Given the description of an element on the screen output the (x, y) to click on. 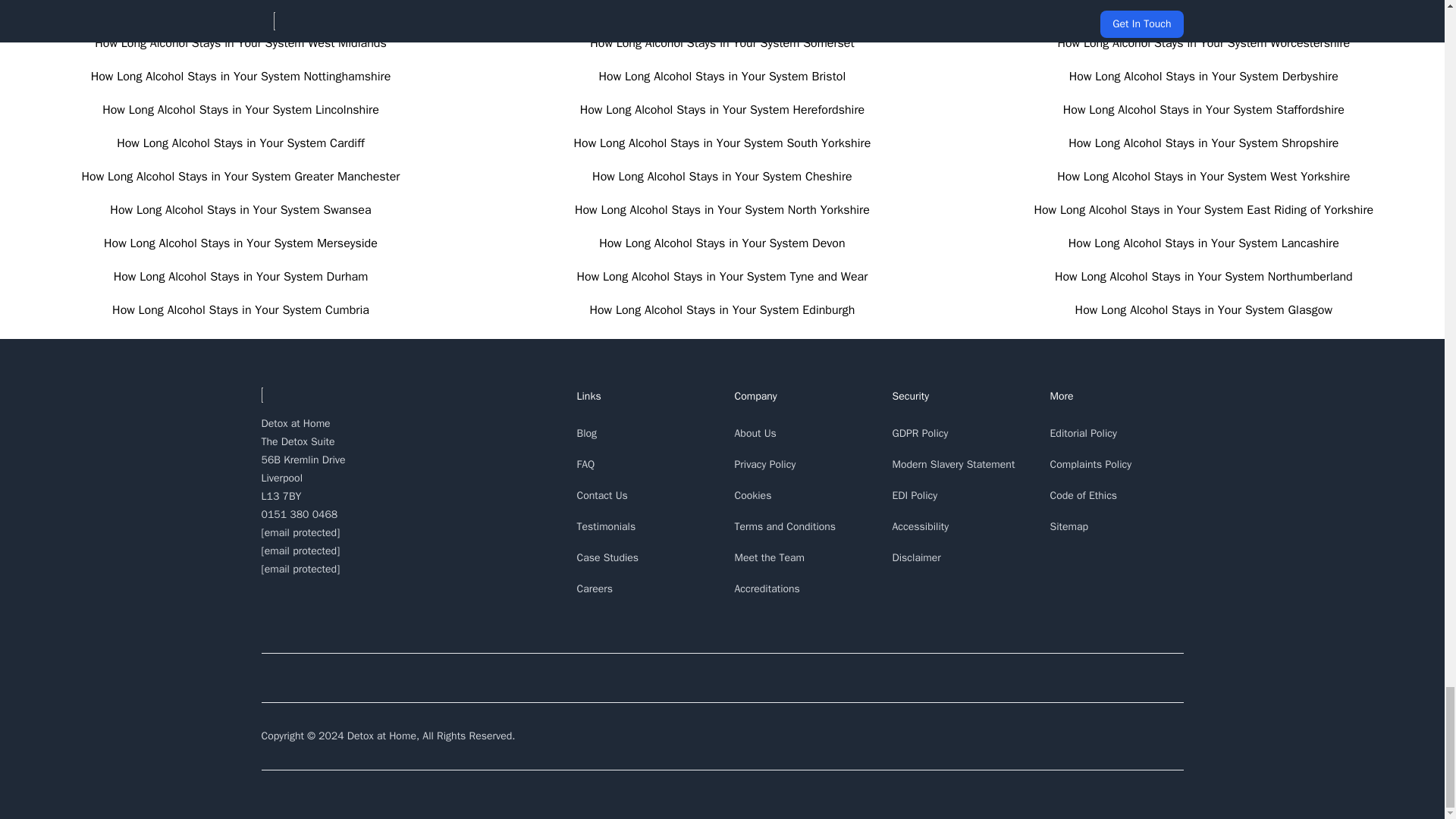
How Long Alcohol Stays in Your System Leicestershire (240, 9)
How Long Alcohol Stays in Your System West Midlands (239, 43)
How Long Alcohol Stays in Your System Gloucestershire (1203, 9)
How Long Alcohol Stays in Your System Dorset (721, 9)
